Given the description of an element on the screen output the (x, y) to click on. 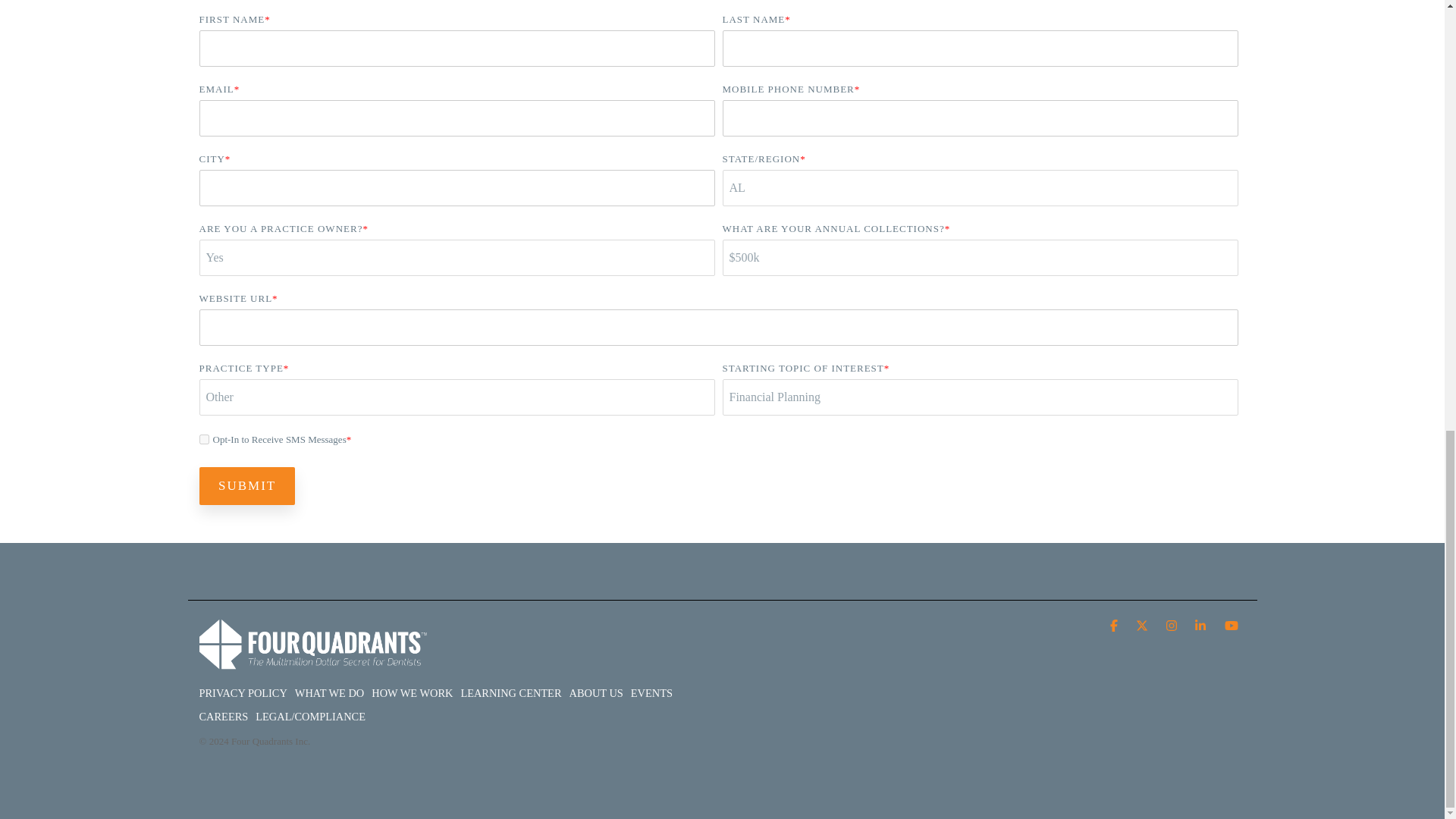
true (203, 439)
Submit (246, 485)
